Given the description of an element on the screen output the (x, y) to click on. 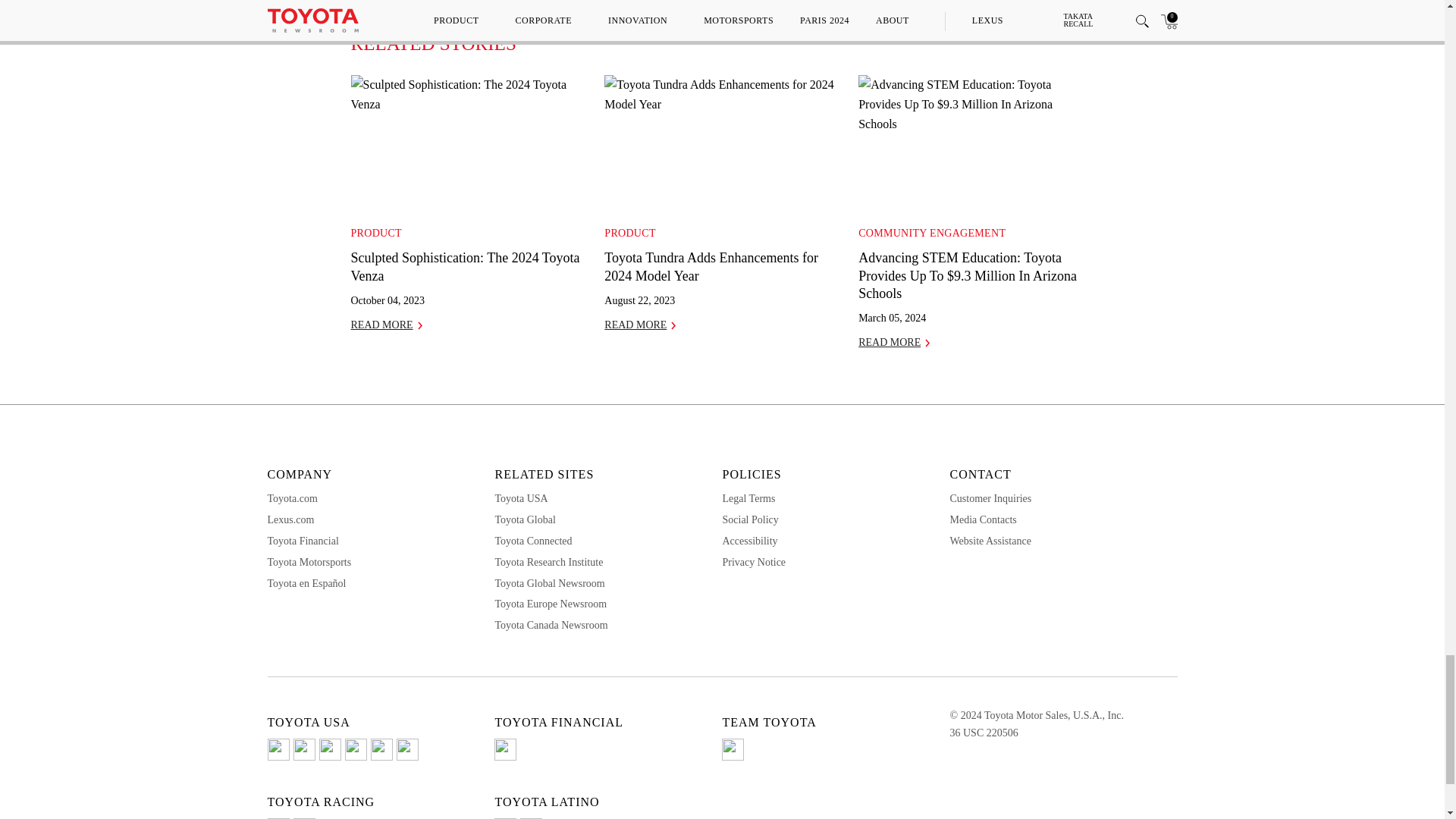
Product (629, 233)
Community Engagement (932, 233)
Product (375, 233)
